Given the description of an element on the screen output the (x, y) to click on. 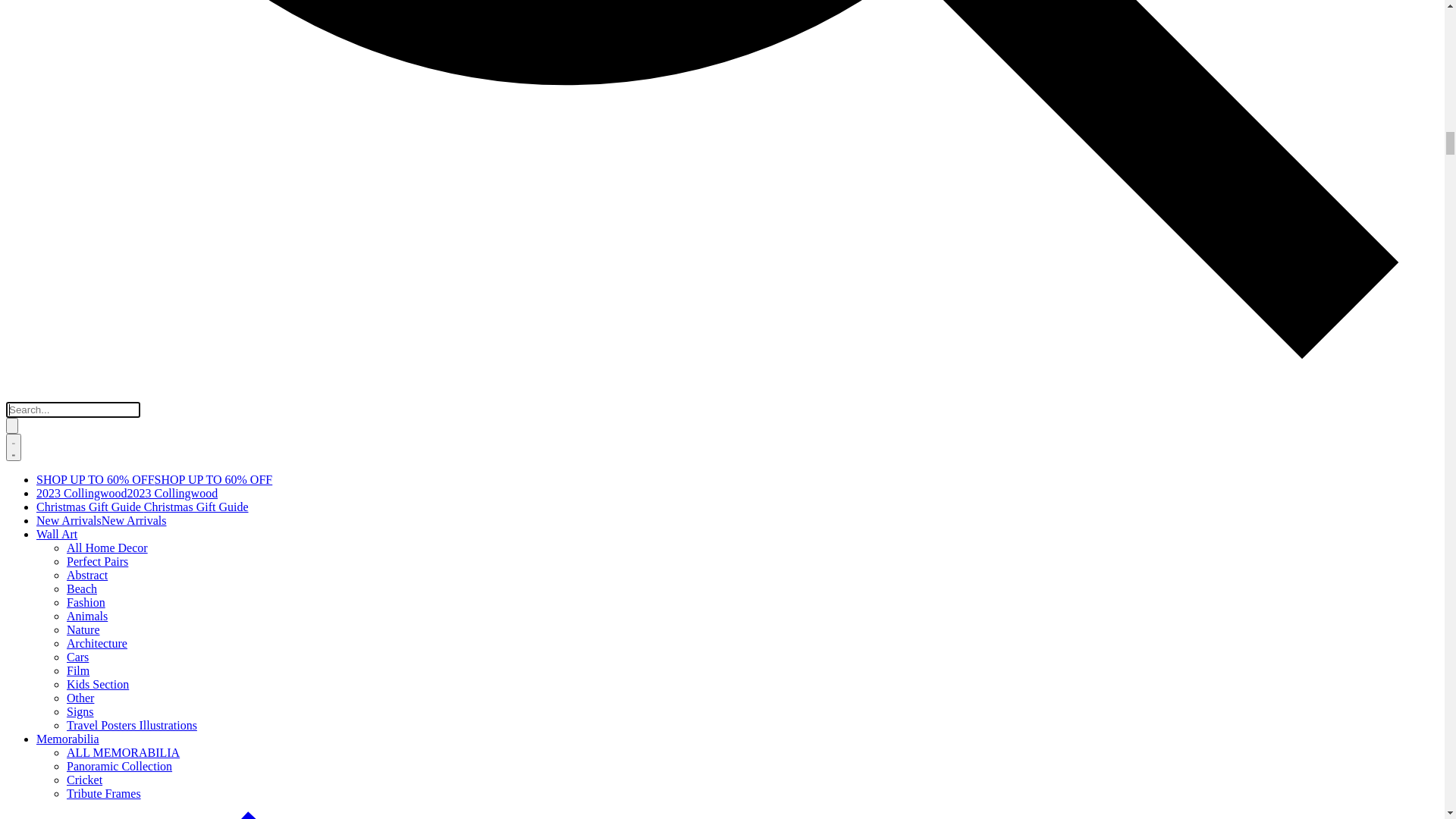
UFC Element type: text (47, 442)
Cars Element type: text (17, 221)
Soccer Element type: text (52, 401)
West Coast Element type: text (63, 687)
2022 World Cup Element type: text (76, 796)
NBA Element type: text (49, 429)
Other Element type: text (19, 262)
Music Element type: text (51, 483)
Panoramic Collection Element type: text (58, 332)
Port Adelaide Element type: text (69, 660)
SHOP UP TO 60% OFF Element type: text (65, 41)
2023 AFL PREMIERS Element type: text (91, 537)
Wall Art Element type: text (29, 98)
ITALY EURO 2020 Element type: text (84, 809)
Kids Section Element type: text (37, 248)
AFL Element type: text (21, 511)
Film Element type: text (17, 235)
Cricket Element type: text (23, 346)
All Tribute Frames Element type: text (82, 388)
Nature Element type: text (22, 194)
Movies Element type: text (54, 470)
Hawthorn Element type: text (60, 742)
Richmond Element type: text (61, 605)
Tennis Element type: text (52, 415)
2020 AFL Premiership Element type: text (91, 578)
2022 AFL PREMIERS Element type: text (91, 551)
Geelong Element type: text (56, 674)
All AFL Element type: text (56, 592)
Boxing Element type: text (54, 456)
Carlton Element type: text (54, 619)
Perfect Pairs Element type: text (36, 125)
Architecture Element type: text (36, 207)
Fremantle Element type: text (60, 715)
Travel Posters Illustrations Element type: text (71, 289)
Soccer Element type: text (27, 770)
Fashion Element type: text (25, 166)
Christmas Gift Guide Element type: text (58, 68)
Essendon Element type: text (59, 633)
Tribute Frames Element type: text (46, 362)
New Arrivals Element type: text (38, 82)
Animals Element type: text (26, 180)
Signs Element type: text (19, 275)
Abstract Element type: text (26, 139)
Skip to content Element type: text (42, 12)
ALL MEMORABILIA Element type: text (62, 319)
Beach Element type: text (21, 153)
Western Bulldogs Element type: text (79, 646)
2021 AFL PREMIERS Element type: text (91, 564)
All Home Decor Element type: text (46, 112)
Sydney Element type: text (54, 701)
Memorabilia Element type: text (39, 305)
2023 Collingwood Element type: text (51, 55)
Adelaide Element type: text (58, 728)
